Given the description of an element on the screen output the (x, y) to click on. 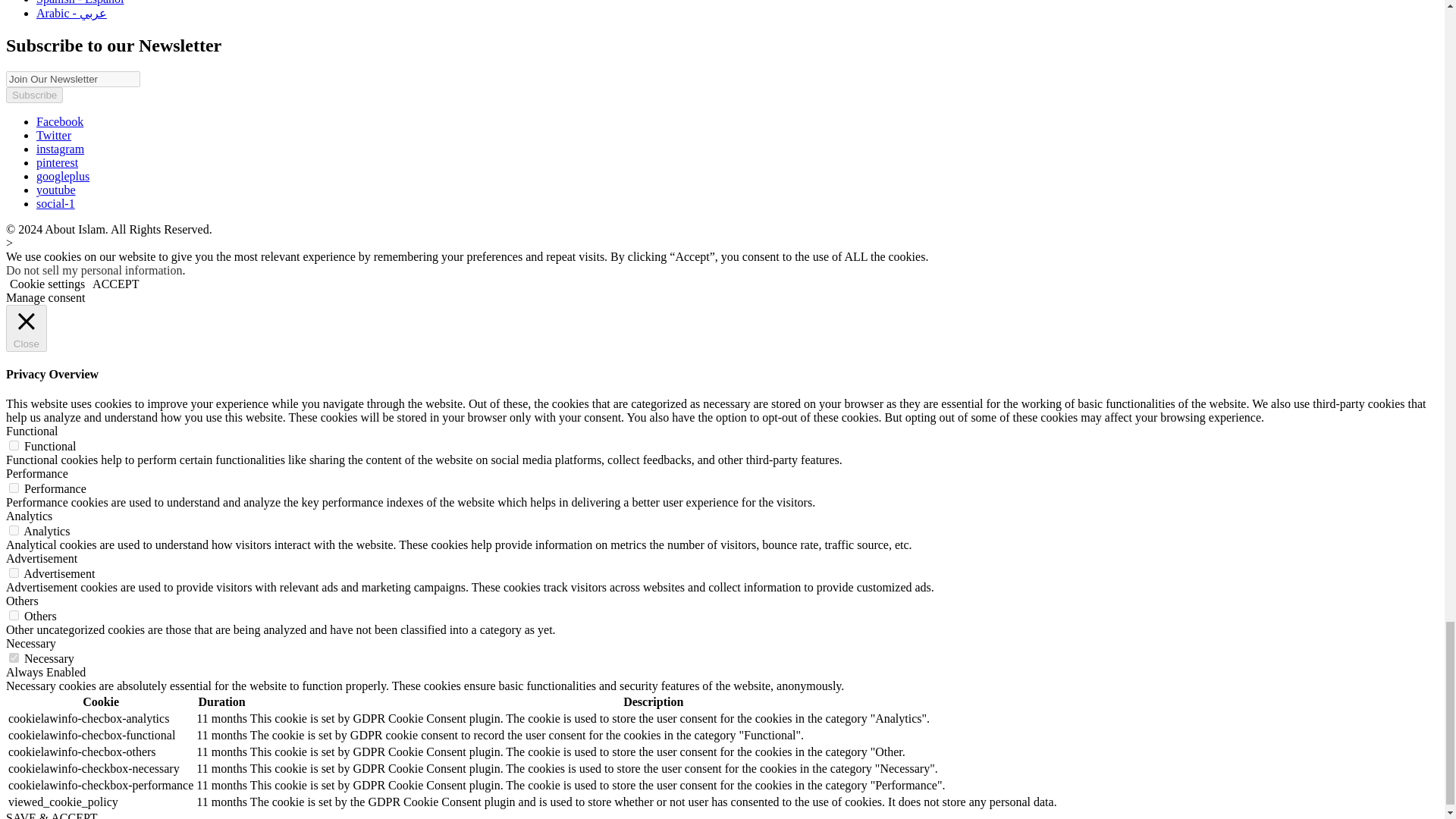
on (13, 445)
Join Our Newsletter (72, 78)
Twitter (53, 134)
on (13, 614)
on (13, 488)
Subscribe (33, 94)
Facebook (59, 121)
on (13, 530)
on (13, 573)
on (13, 657)
